Given the description of an element on the screen output the (x, y) to click on. 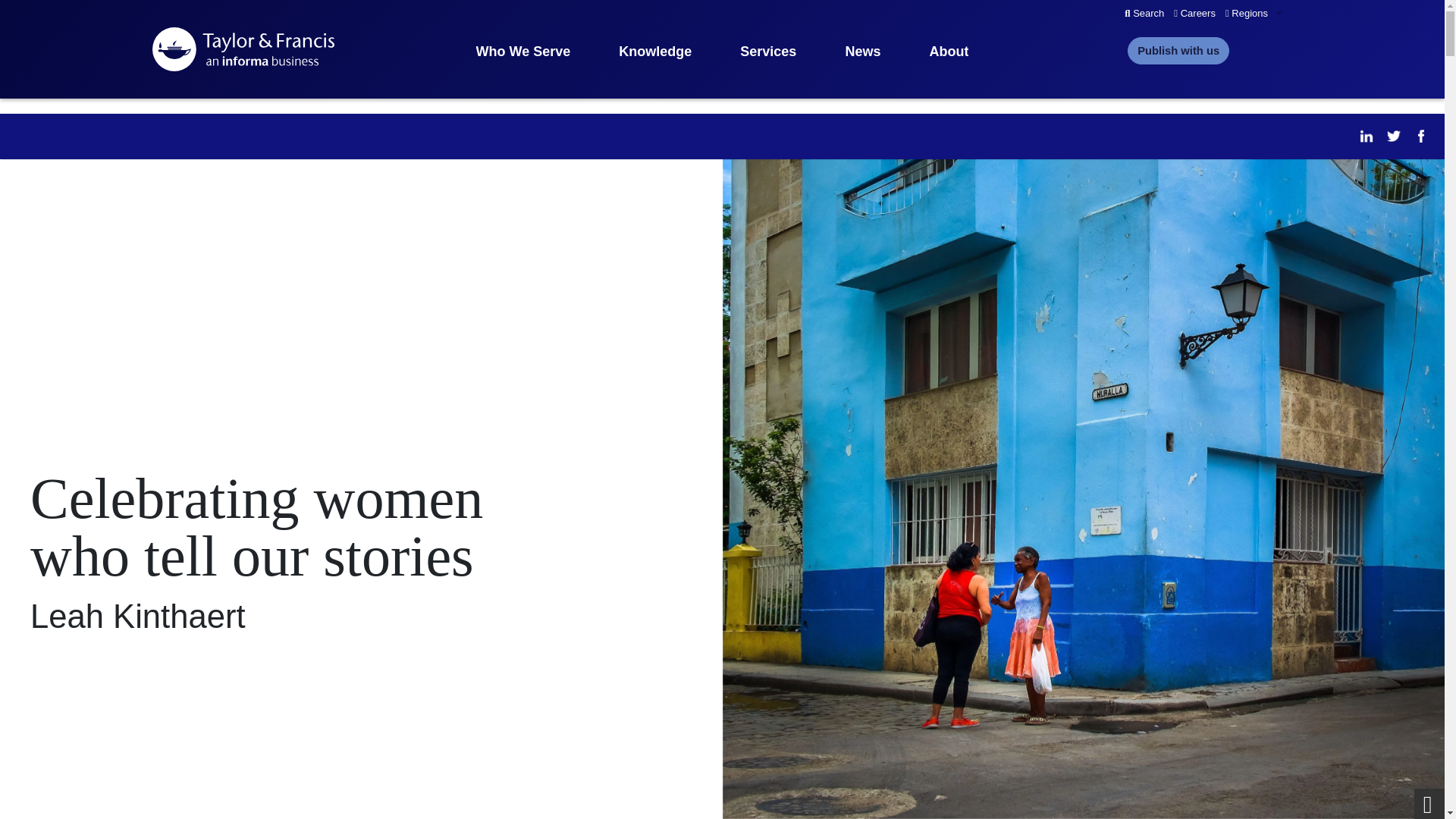
View our Services page (767, 51)
Regions (1256, 13)
Knowledge (654, 51)
Who We Serve (523, 51)
Search (1144, 13)
View our Homepage (242, 49)
View our Careers page (1195, 13)
Search (1144, 13)
Careers (1195, 13)
View our About Us page (948, 51)
